Given the description of an element on the screen output the (x, y) to click on. 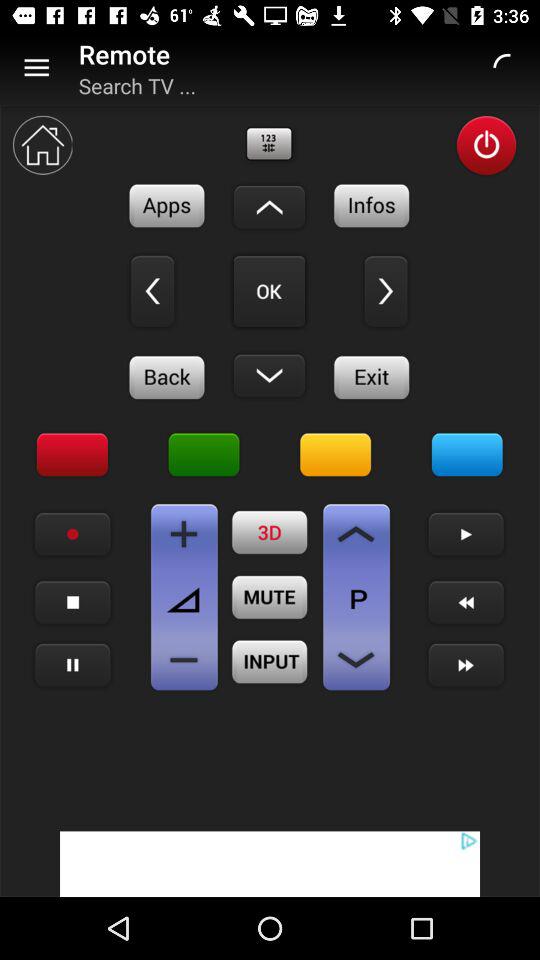
simple page (356, 660)
